Given the description of an element on the screen output the (x, y) to click on. 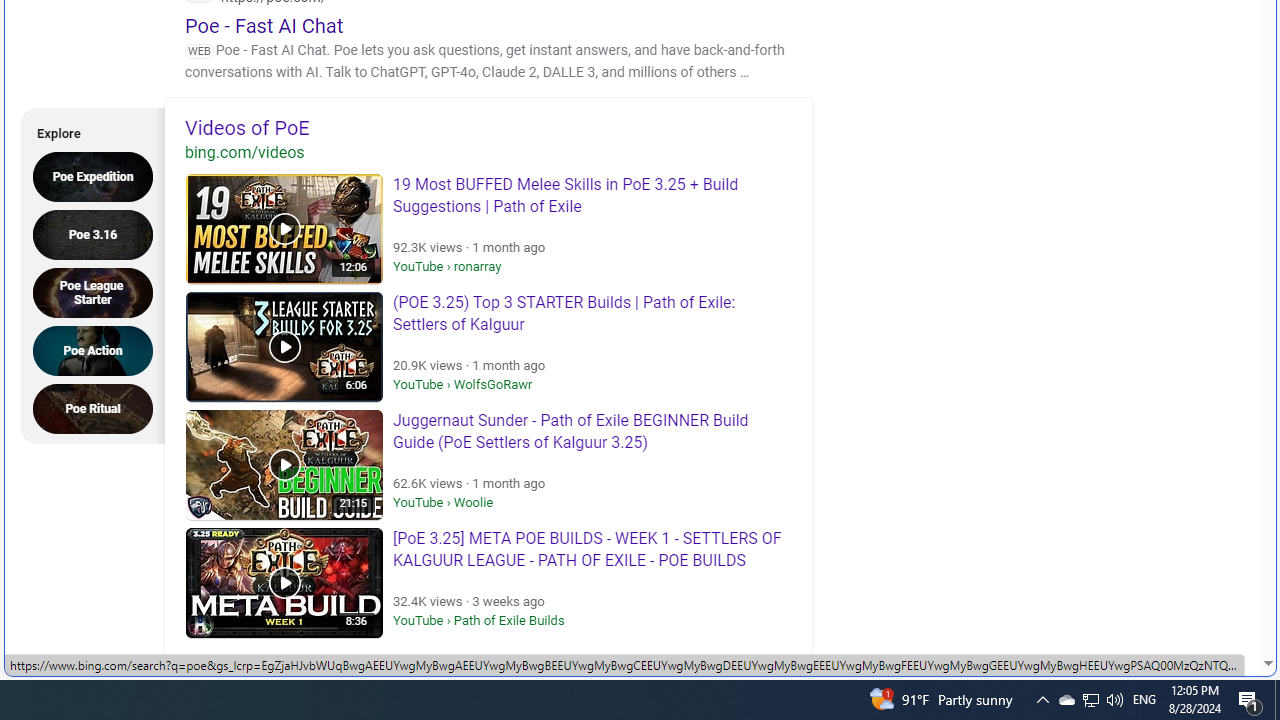
Explore (86, 130)
Poe Expedition (99, 176)
Poe Action (99, 349)
Poe League Starter (99, 292)
Path of Exile (324, 692)
Poe 3.16 (99, 233)
Poe Ritual (99, 408)
AutomationID: mfa_root (1192, 603)
